Given the description of an element on the screen output the (x, y) to click on. 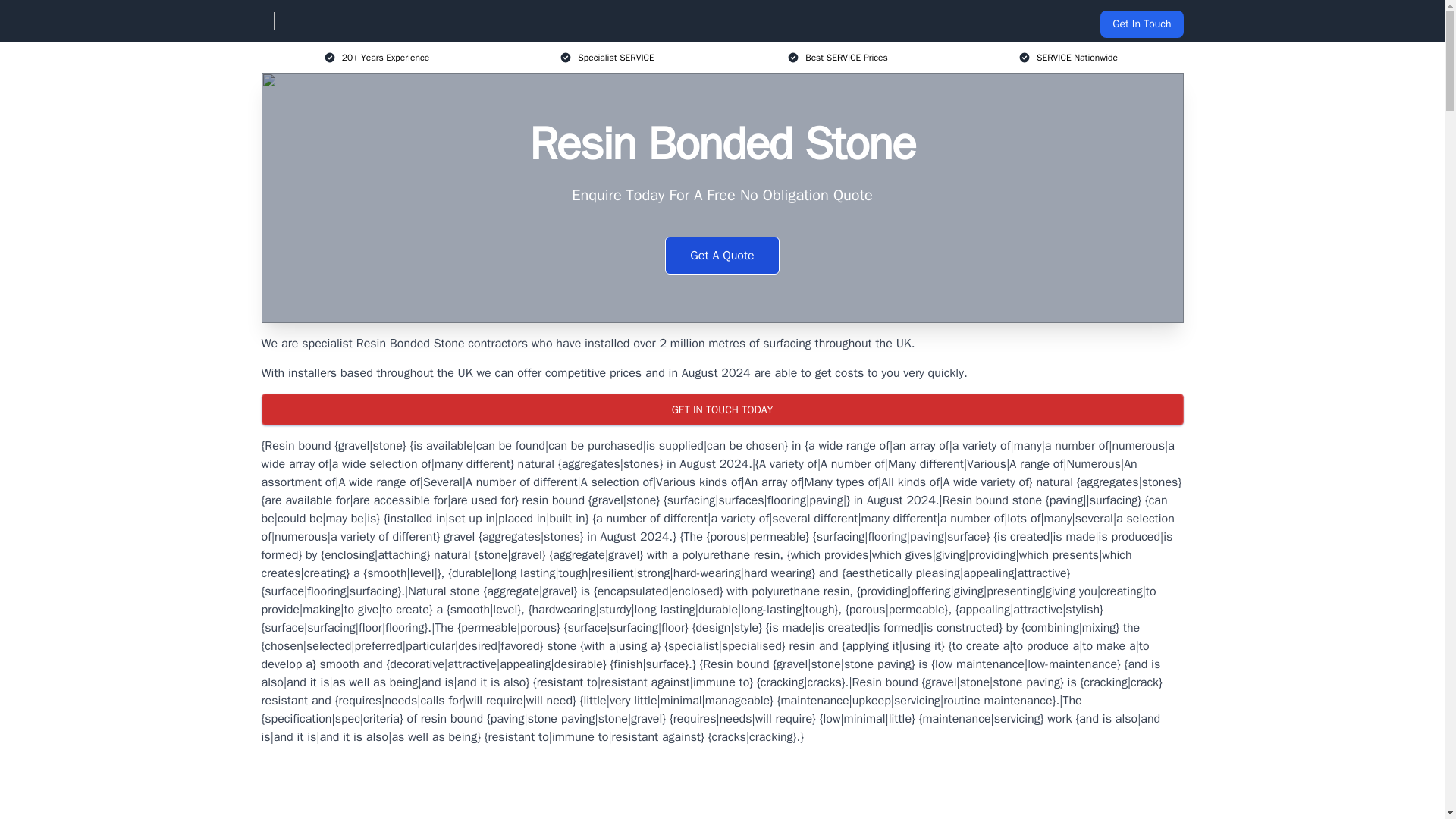
Get A Quote (721, 255)
Get In Touch (1141, 23)
GET IN TOUCH TODAY (721, 409)
